Given the description of an element on the screen output the (x, y) to click on. 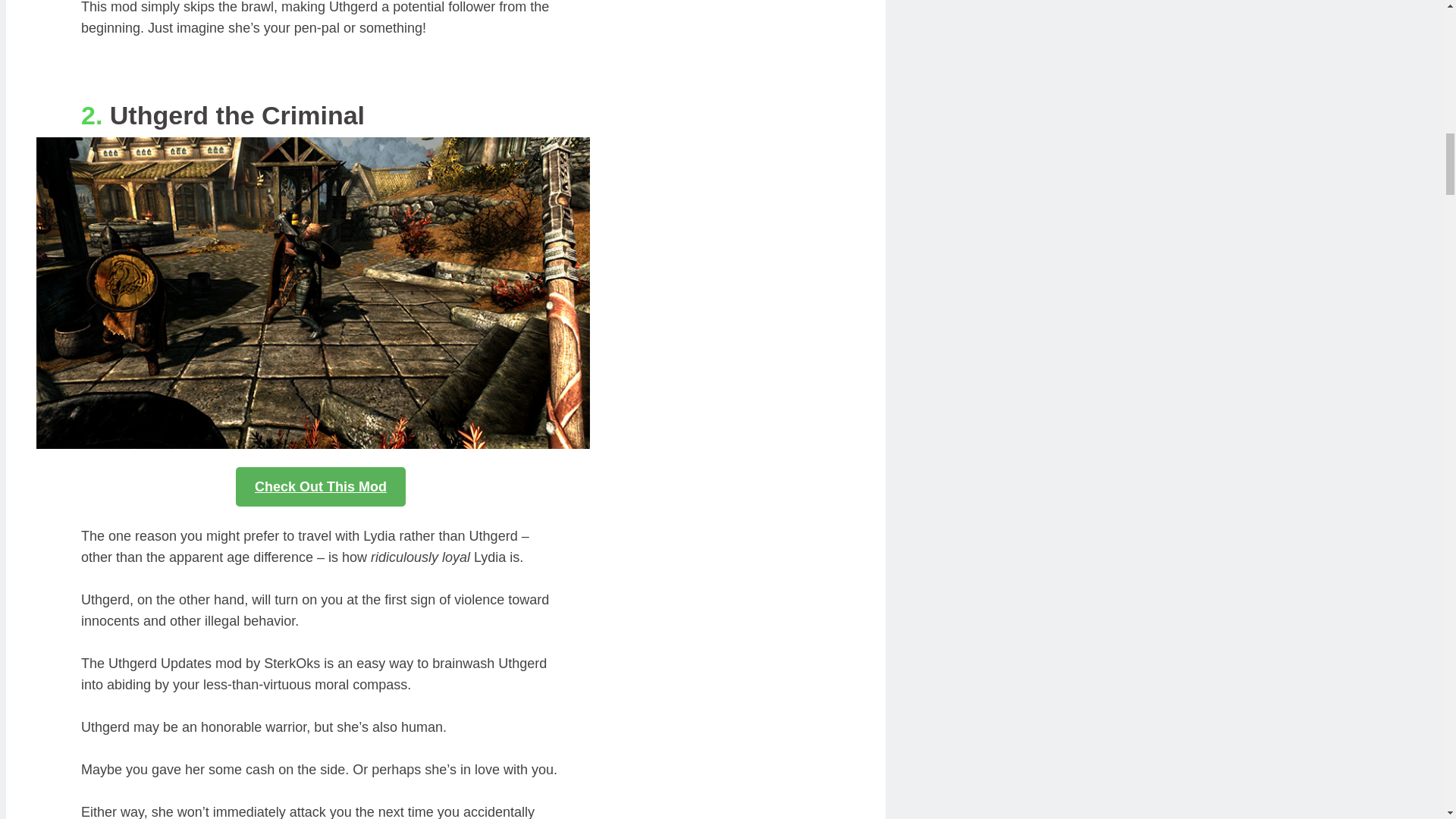
Check Out This Mod (320, 486)
